Given the description of an element on the screen output the (x, y) to click on. 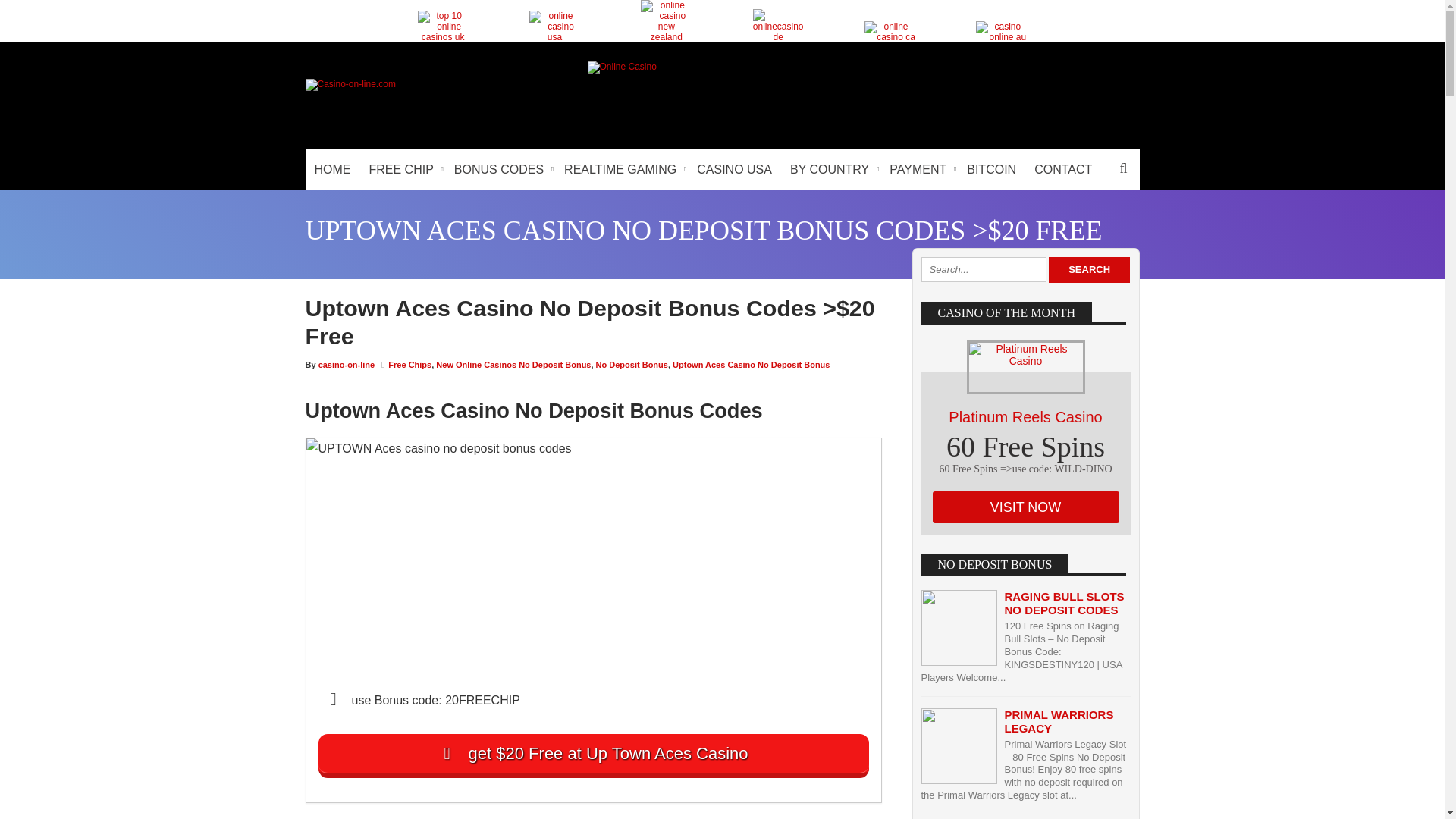
HOME (331, 169)
Raging Bull Slots No Deposit Codes (1064, 602)
AU Casinos (1000, 31)
Posts by casino-on-line (346, 364)
Search (1089, 269)
US Casinos (554, 26)
Casino-on-line.com (349, 83)
CA Casino (889, 31)
FREE CHIP (401, 169)
Primal Warriors Legacy (1058, 721)
